Given the description of an element on the screen output the (x, y) to click on. 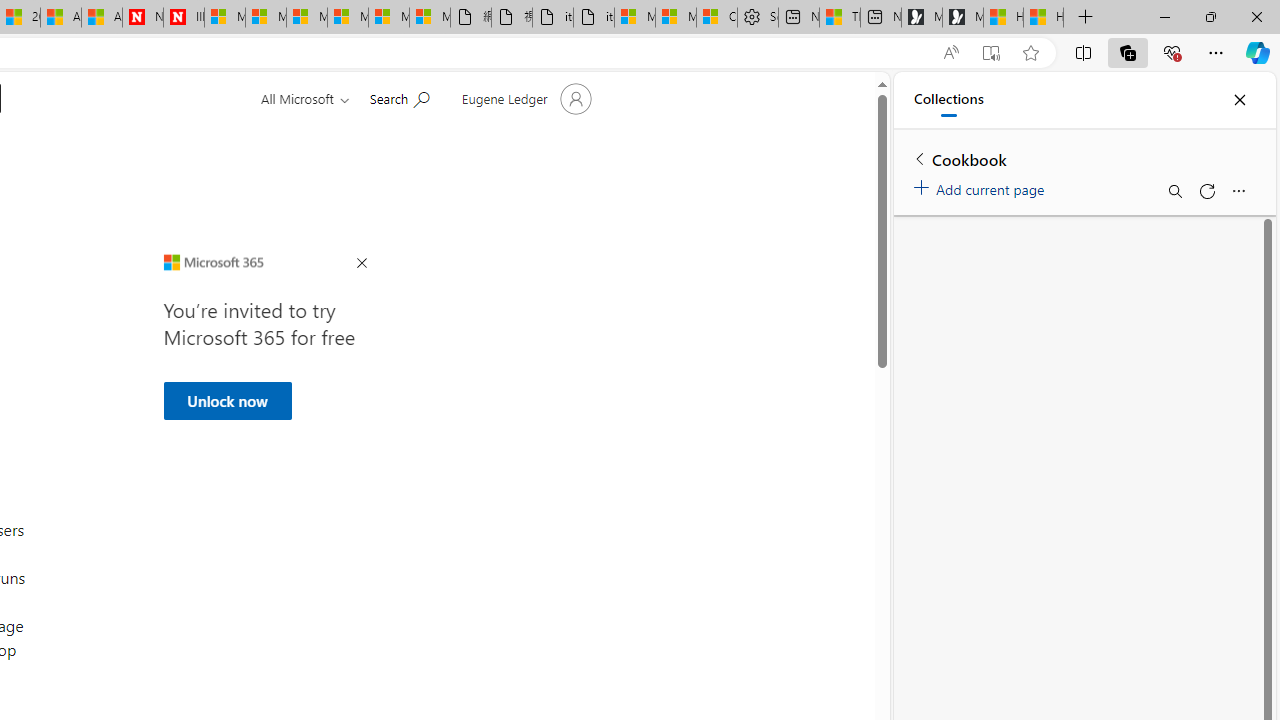
Close Ad (361, 264)
More options menu (1238, 190)
Add current page (982, 186)
Three Ways To Stop Sweating So Much (840, 17)
Illness news & latest pictures from Newsweek.com (183, 17)
